Given the description of an element on the screen output the (x, y) to click on. 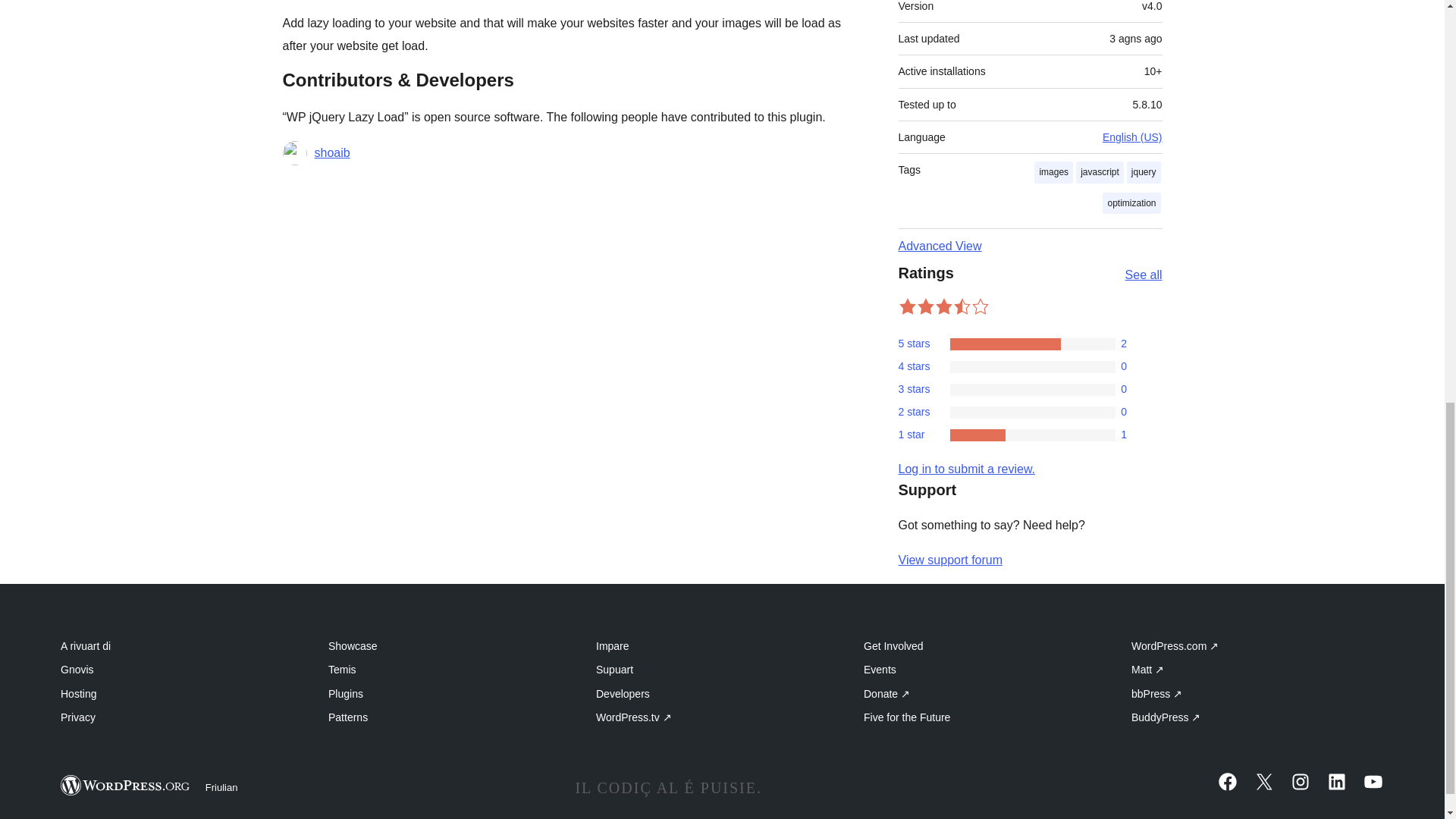
Log in to WordPress.org (966, 468)
shoaib (331, 152)
WordPress.org (125, 784)
